Given the description of an element on the screen output the (x, y) to click on. 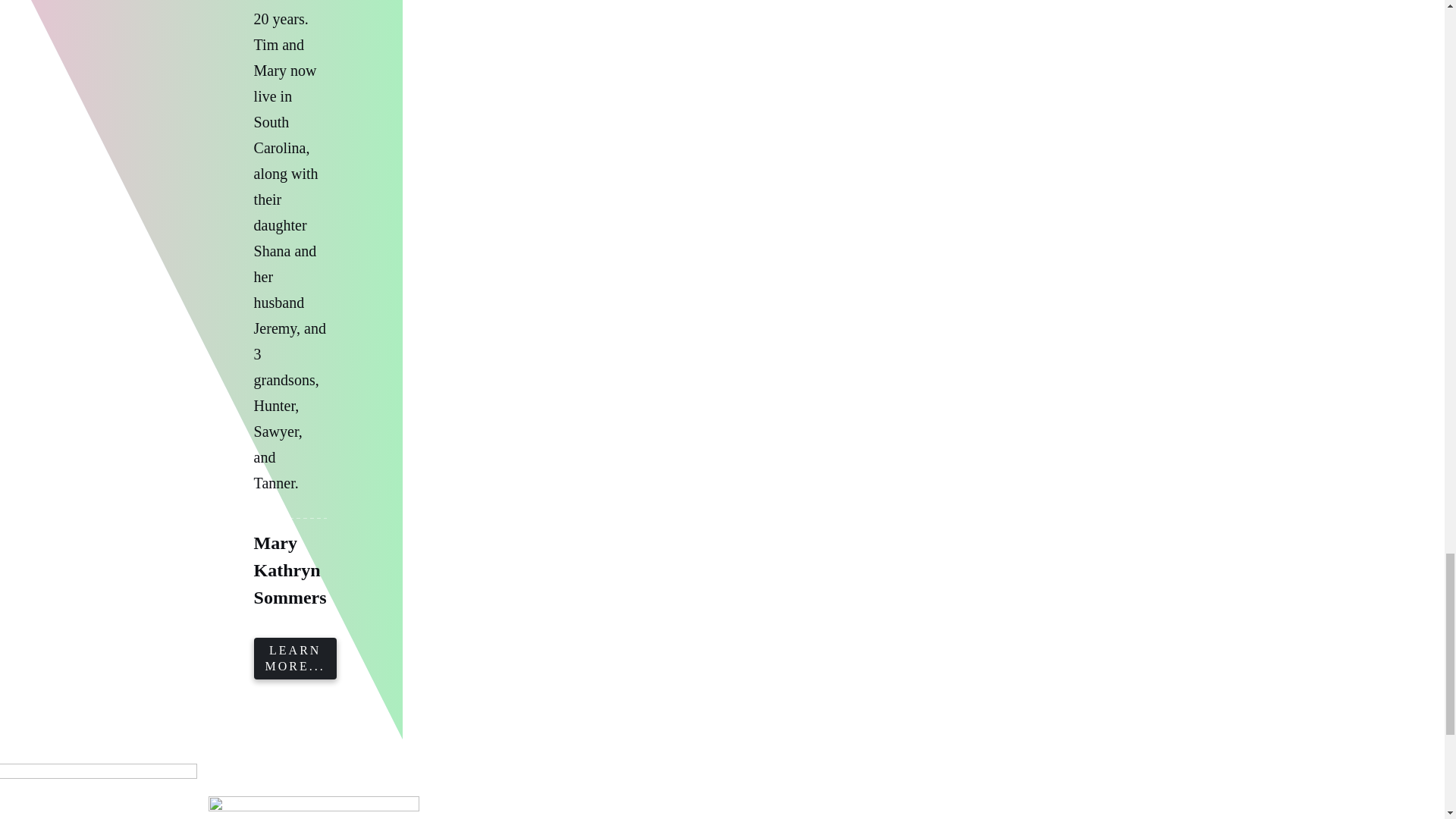
LEARN MORE... (294, 658)
8D3D3482-79AB-4698-9FBB-321EC5FAEEED (98, 791)
FOREVER 29 logo (313, 807)
